Given the description of an element on the screen output the (x, y) to click on. 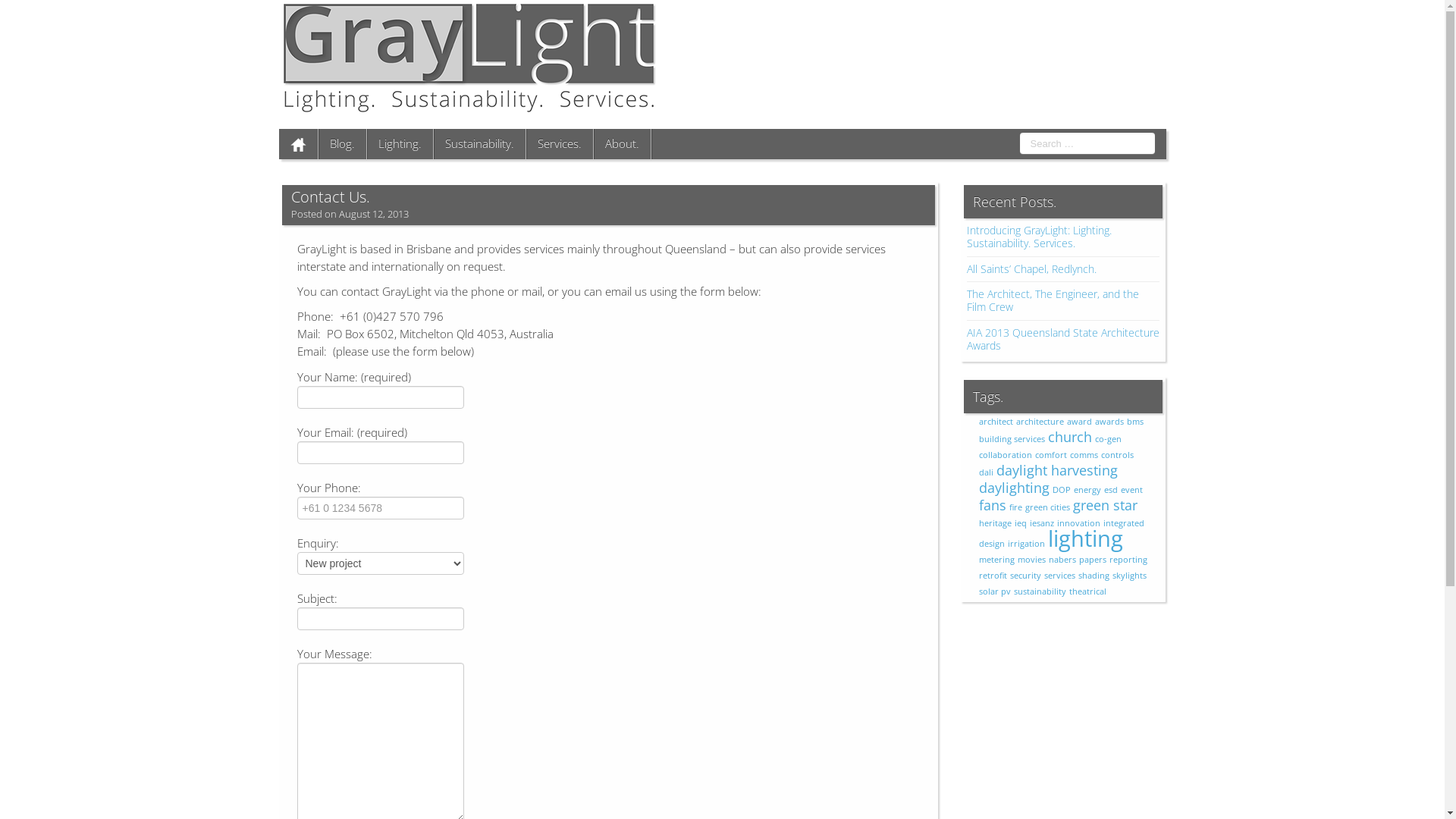
dali Element type: text (986, 472)
Blog. Element type: text (342, 143)
event Element type: text (1131, 489)
Lighting. Element type: text (400, 143)
solar pv Element type: text (994, 591)
building services Element type: text (1011, 438)
architecture Element type: text (1039, 421)
About. Element type: text (621, 143)
church Element type: text (1070, 436)
esd Element type: text (1110, 489)
awards Element type: text (1109, 421)
DOP Element type: text (1061, 489)
energy Element type: text (1087, 489)
metering Element type: text (996, 559)
daylighting Element type: text (1014, 487)
green cities Element type: text (1047, 507)
Services. Element type: text (559, 143)
August 12, 2013 Element type: text (372, 216)
theatrical Element type: text (1087, 591)
integrated design Element type: text (1061, 533)
The Architect, The Engineer, and the Film Crew Element type: text (1052, 299)
security Element type: text (1025, 575)
GrayLight Element type: hover (468, 55)
bms Element type: text (1134, 421)
sustainability Element type: text (1039, 591)
comms Element type: text (1084, 454)
collaboration Element type: text (1005, 454)
Introducing GrayLight: Lighting. Sustainability. Services. Element type: text (1038, 236)
nabers Element type: text (1062, 559)
Sustainability. Element type: text (479, 143)
papers Element type: text (1092, 559)
shading Element type: text (1093, 575)
movies Element type: text (1031, 559)
iesanz Element type: text (1041, 522)
green star Element type: text (1105, 504)
skylights Element type: text (1129, 575)
controls Element type: text (1117, 454)
fans Element type: text (992, 504)
services Element type: text (1059, 575)
heritage Element type: text (995, 522)
reporting Element type: text (1128, 559)
AIA 2013 Queensland State Architecture Awards Element type: text (1062, 338)
fire Element type: text (1015, 507)
irrigation Element type: text (1025, 543)
architect Element type: text (996, 421)
award Element type: text (1079, 421)
daylight harvesting Element type: text (1056, 470)
lighting Element type: text (1085, 538)
retrofit Element type: text (993, 575)
comfort Element type: text (1050, 454)
innovation Element type: text (1078, 522)
co-gen Element type: text (1108, 438)
ieq Element type: text (1020, 522)
